Given the description of an element on the screen output the (x, y) to click on. 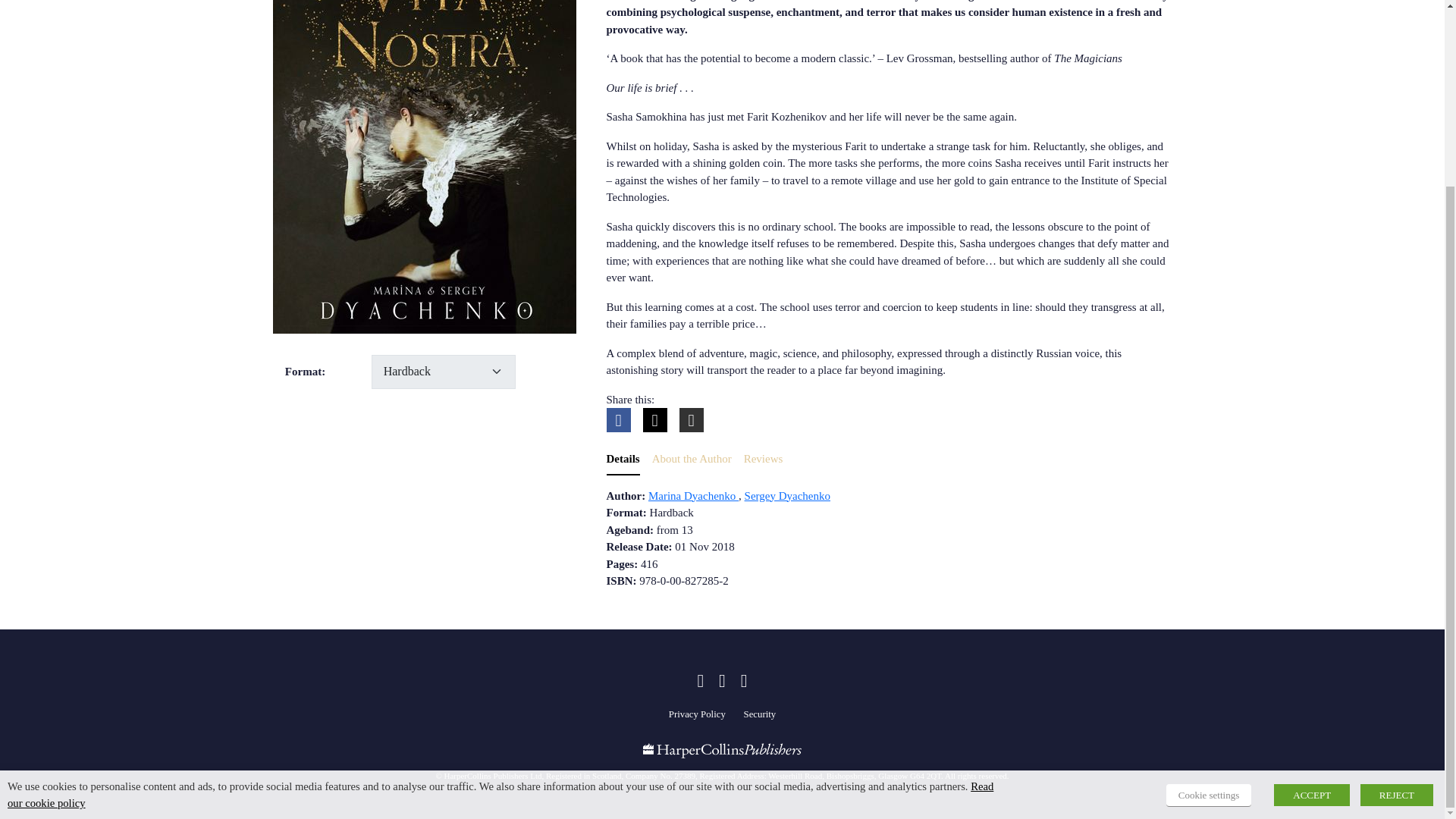
Sergey Dyachenko (786, 495)
Details (623, 459)
Reviews (763, 459)
About the Author (692, 459)
Marina Dyachenko (692, 495)
